Given the description of an element on the screen output the (x, y) to click on. 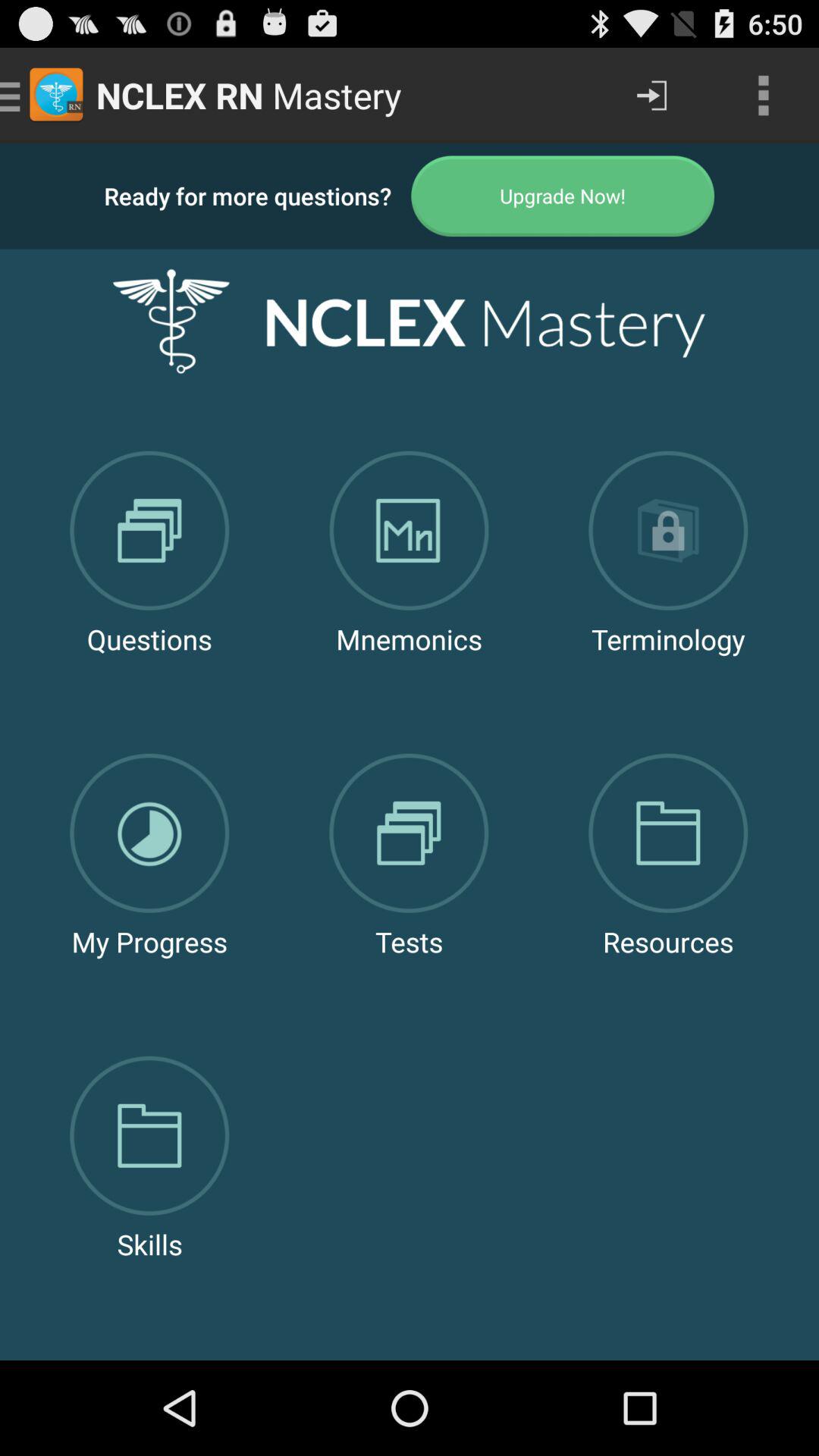
upgrade now (562, 195)
